Given the description of an element on the screen output the (x, y) to click on. 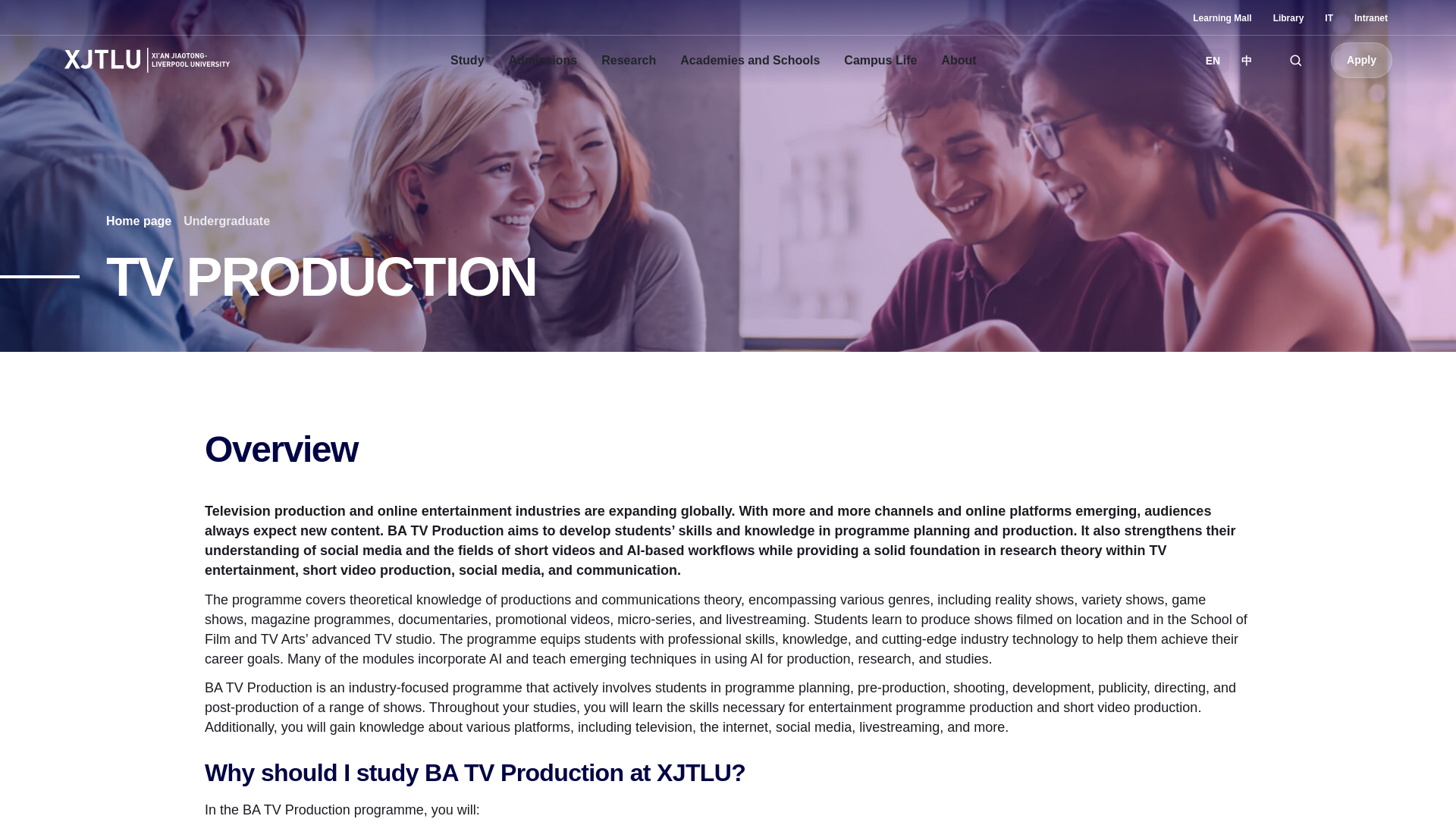
Study (467, 60)
Library (1288, 18)
Learning Mall (1221, 18)
Intranet (1370, 18)
Admissions (542, 60)
